Given the description of an element on the screen output the (x, y) to click on. 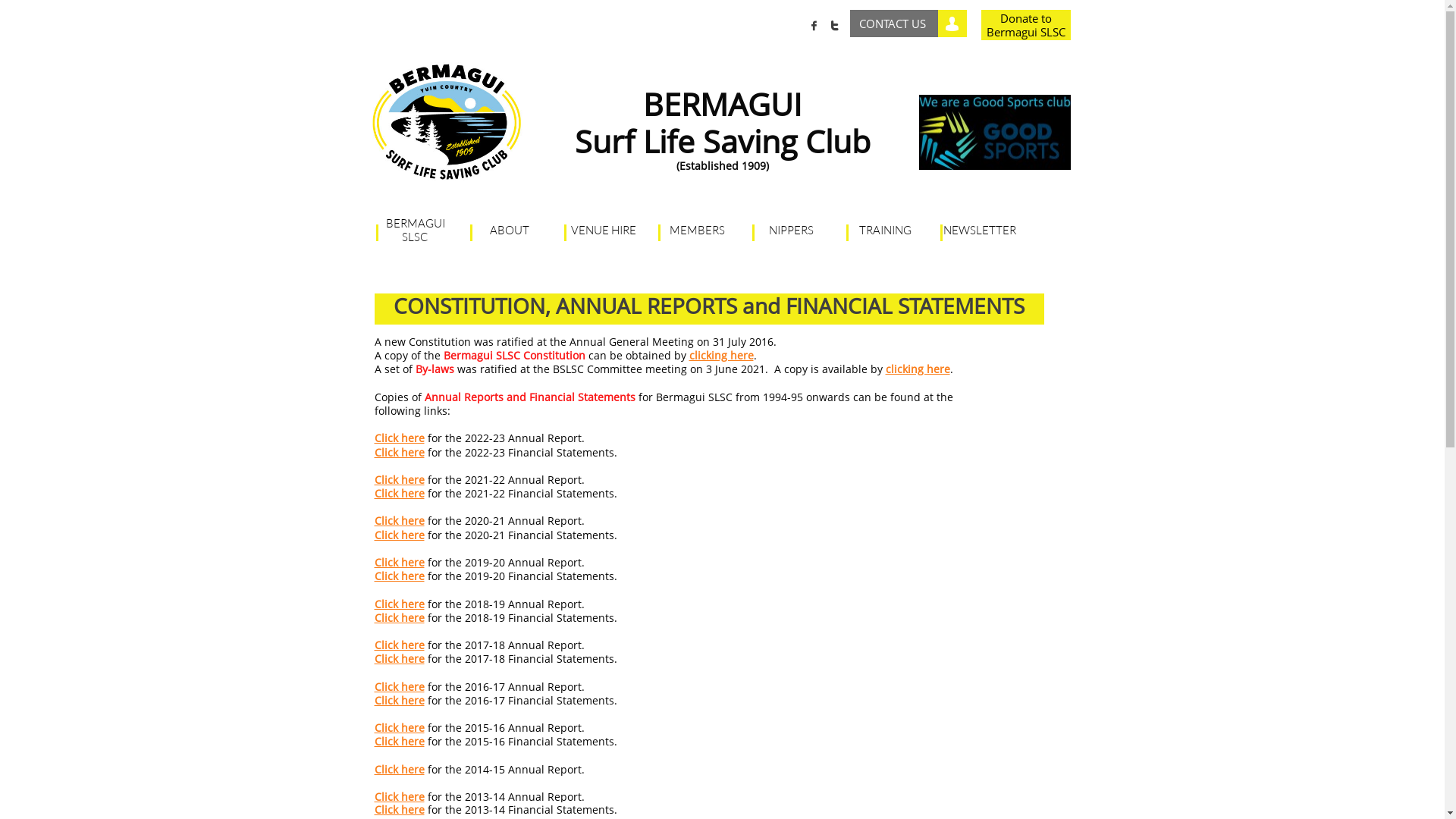
Click here Element type: text (399, 727)
Click here Element type: text (399, 520)
Click here Element type: text (399, 575)
Click here Element type: text (399, 658)
TRAINING Element type: text (885, 230)
ABOUT Element type: text (509, 230)
Donate to Bermagui SLSC Element type: text (1025, 24)
Click here Element type: text (399, 534)
MEMBERS Element type: text (697, 230)
Click here Element type: text (399, 741)
Click here Element type: text (399, 700)
Click here Element type: text (399, 809)
NEWSLETTER Element type: text (979, 230)
Click here Element type: text (399, 562)
Click here Element type: text (399, 451)
clicking here Element type: text (917, 368)
clicking here Element type: text (720, 355)
Click here Element type: text (399, 796)
Click here Element type: text (399, 686)
Click here Element type: text (399, 603)
BERMAGUI SLSC Element type: text (415, 230)
Click here Element type: text (399, 493)
NIPPERS Element type: text (791, 230)
Click here Element type: text (399, 437)
Click here Element type: text (399, 617)
Click here Element type: text (399, 644)
Click here Element type: text (399, 479)
VENUE HIRE Element type: text (603, 230)
Click here Element type: text (399, 769)
